Given the description of an element on the screen output the (x, y) to click on. 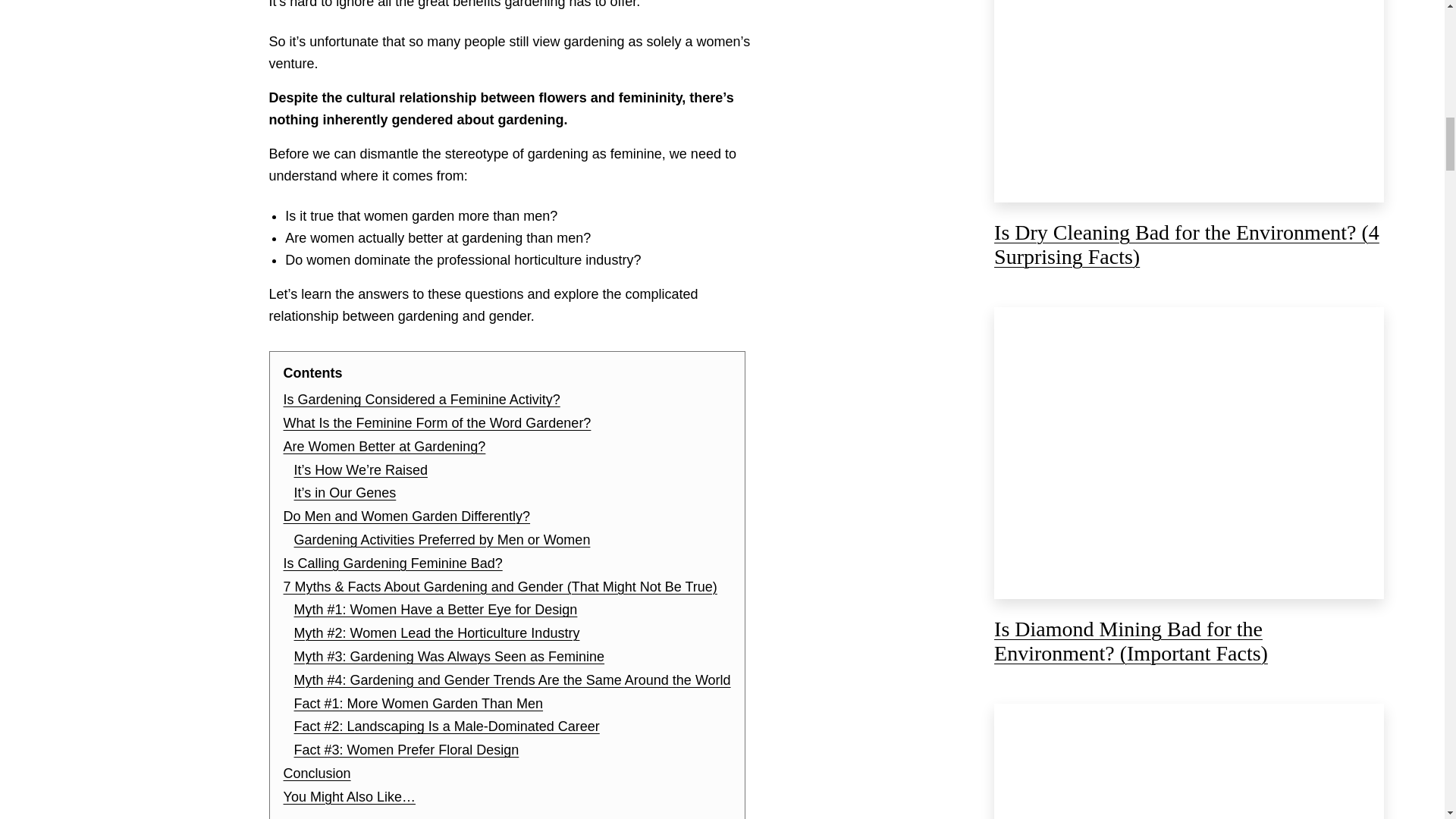
What Is the Feminine Form of the Word Gardener? (437, 422)
Conclusion (316, 773)
Do Men and Women Garden Differently? (407, 516)
Gardening Activities Preferred by Men or Women (442, 539)
Are Women Better at Gardening? (384, 446)
Is Calling Gardening Feminine Bad? (392, 563)
Is Gardening Considered a Feminine Activity? (421, 399)
